Given the description of an element on the screen output the (x, y) to click on. 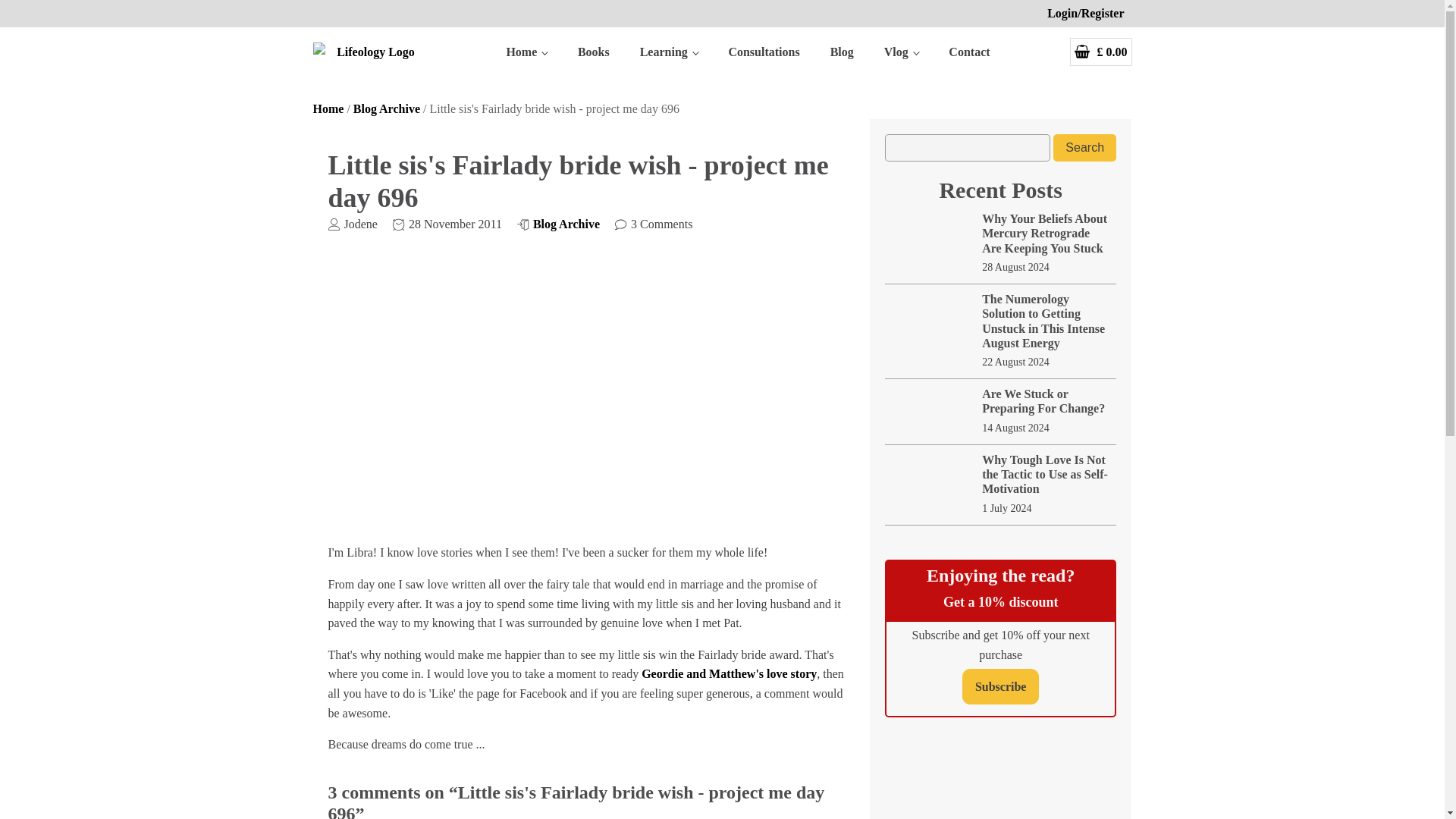
Learning (668, 51)
Blog Archive (386, 108)
geordie and matthew nicholls (591, 393)
Search (1084, 147)
Vlog (901, 51)
Home (328, 108)
Blog (842, 51)
Books (593, 51)
